Given the description of an element on the screen output the (x, y) to click on. 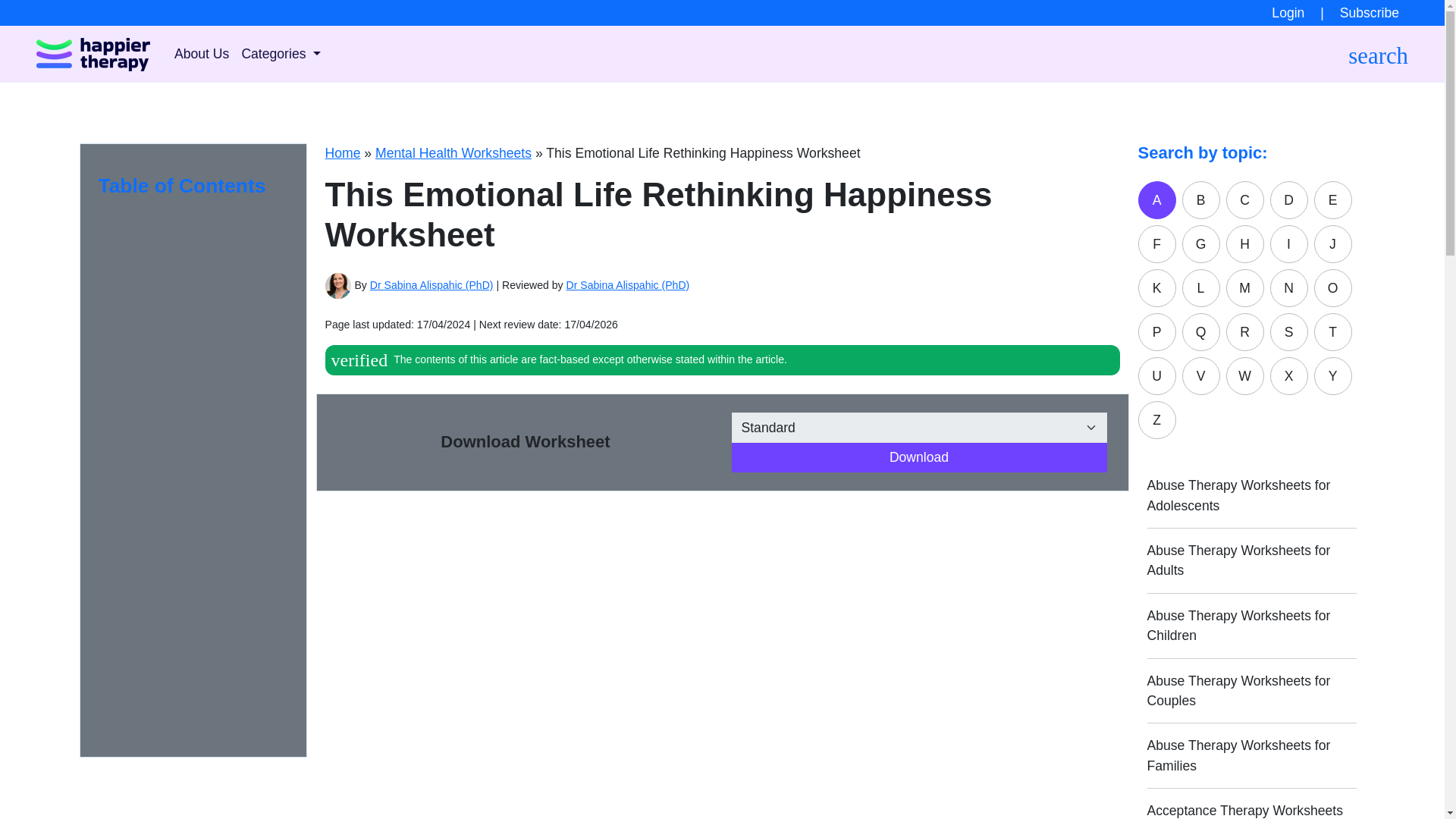
Search (895, 84)
Login (1289, 12)
Categories (280, 53)
Subscribe (1387, 12)
About Us (201, 53)
search (1377, 53)
